Given the description of an element on the screen output the (x, y) to click on. 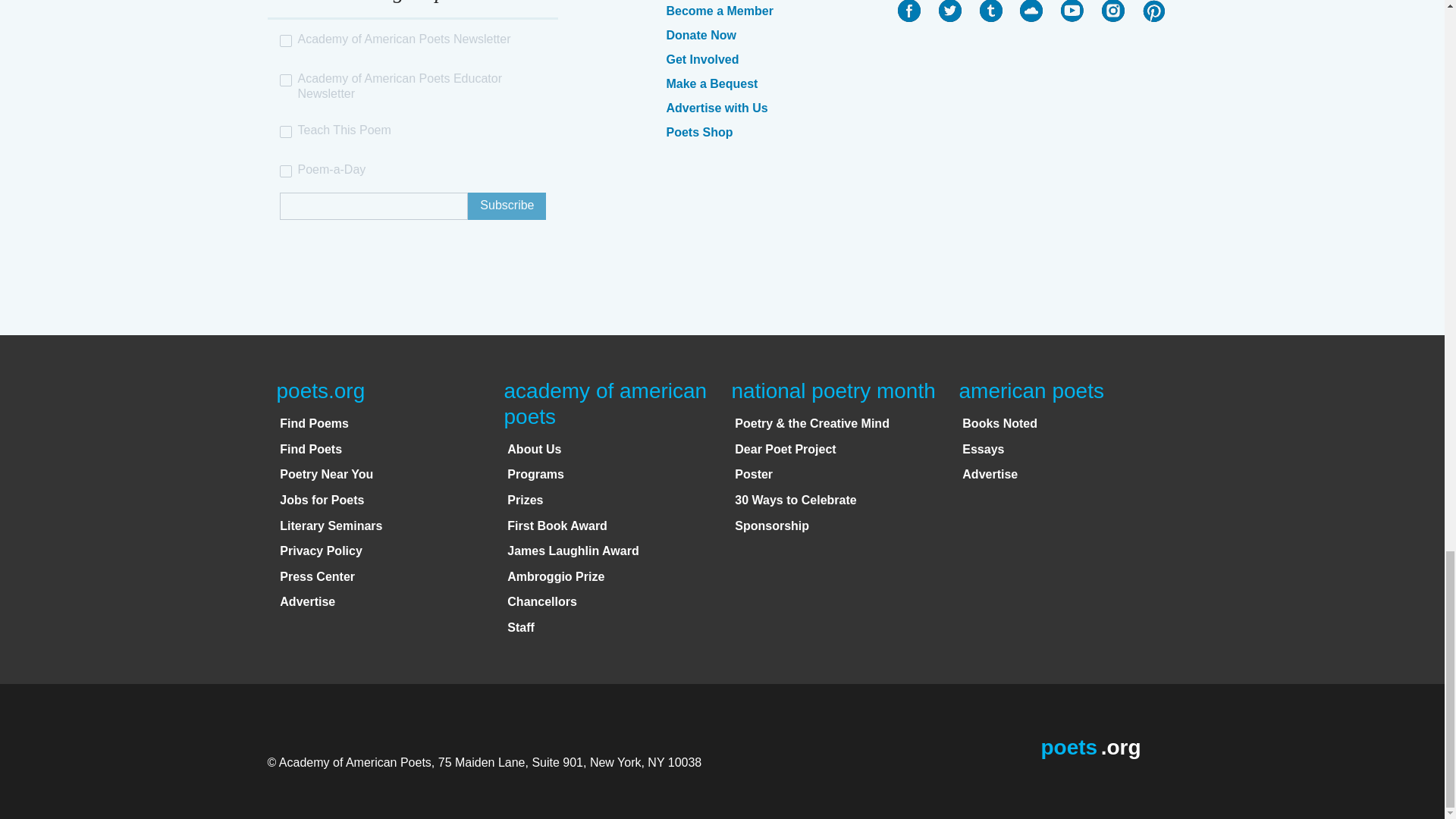
Subscribe (506, 206)
Privacy Policy (320, 550)
Subscribe (506, 206)
Press Center (317, 576)
Literary Seminars (330, 525)
Jobs for Poets (321, 499)
Poetry Near You (325, 473)
